Given the description of an element on the screen output the (x, y) to click on. 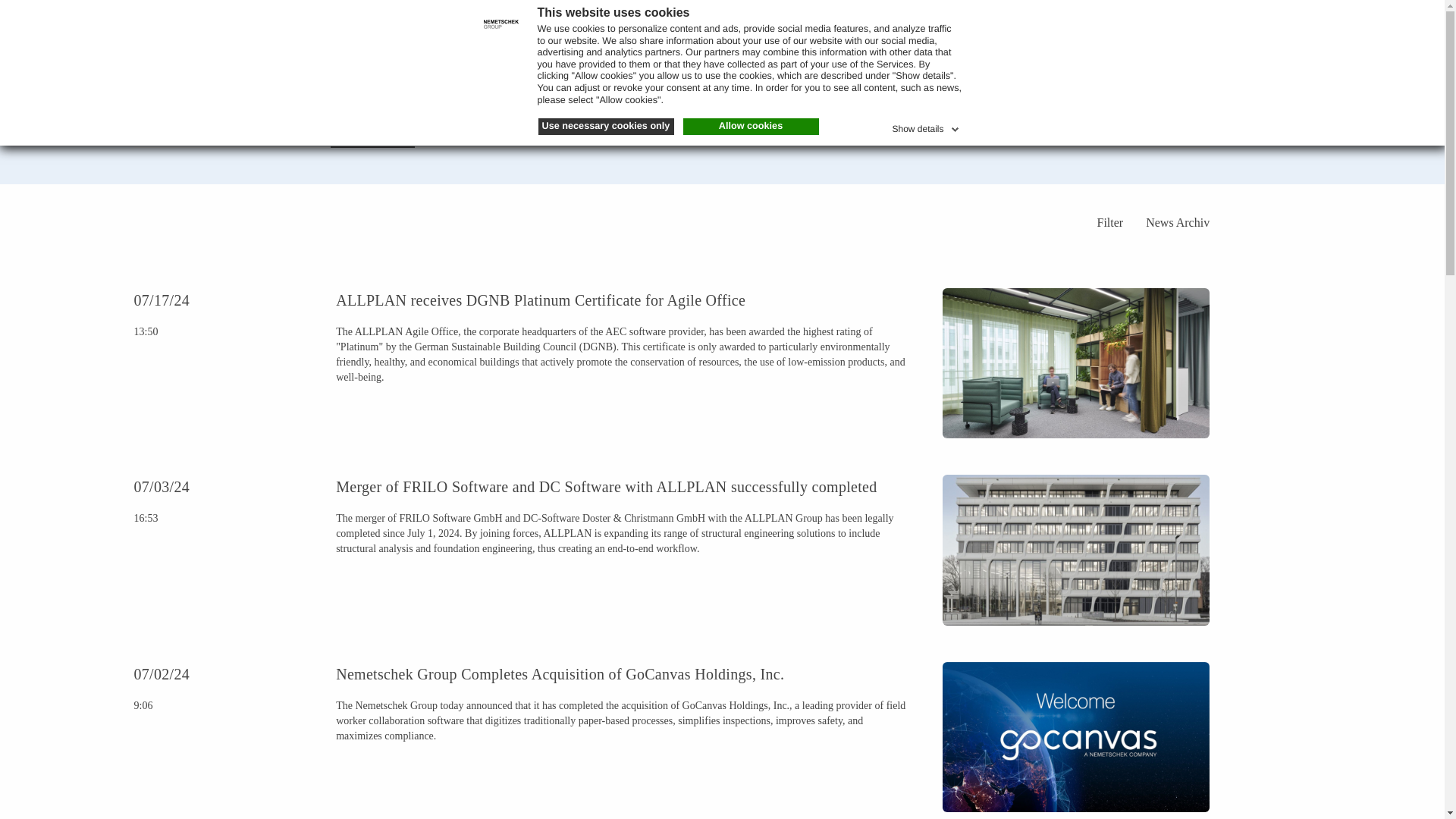
Show details (925, 126)
Use necessary cookies only (606, 126)
Allow cookies (750, 126)
